Given the description of an element on the screen output the (x, y) to click on. 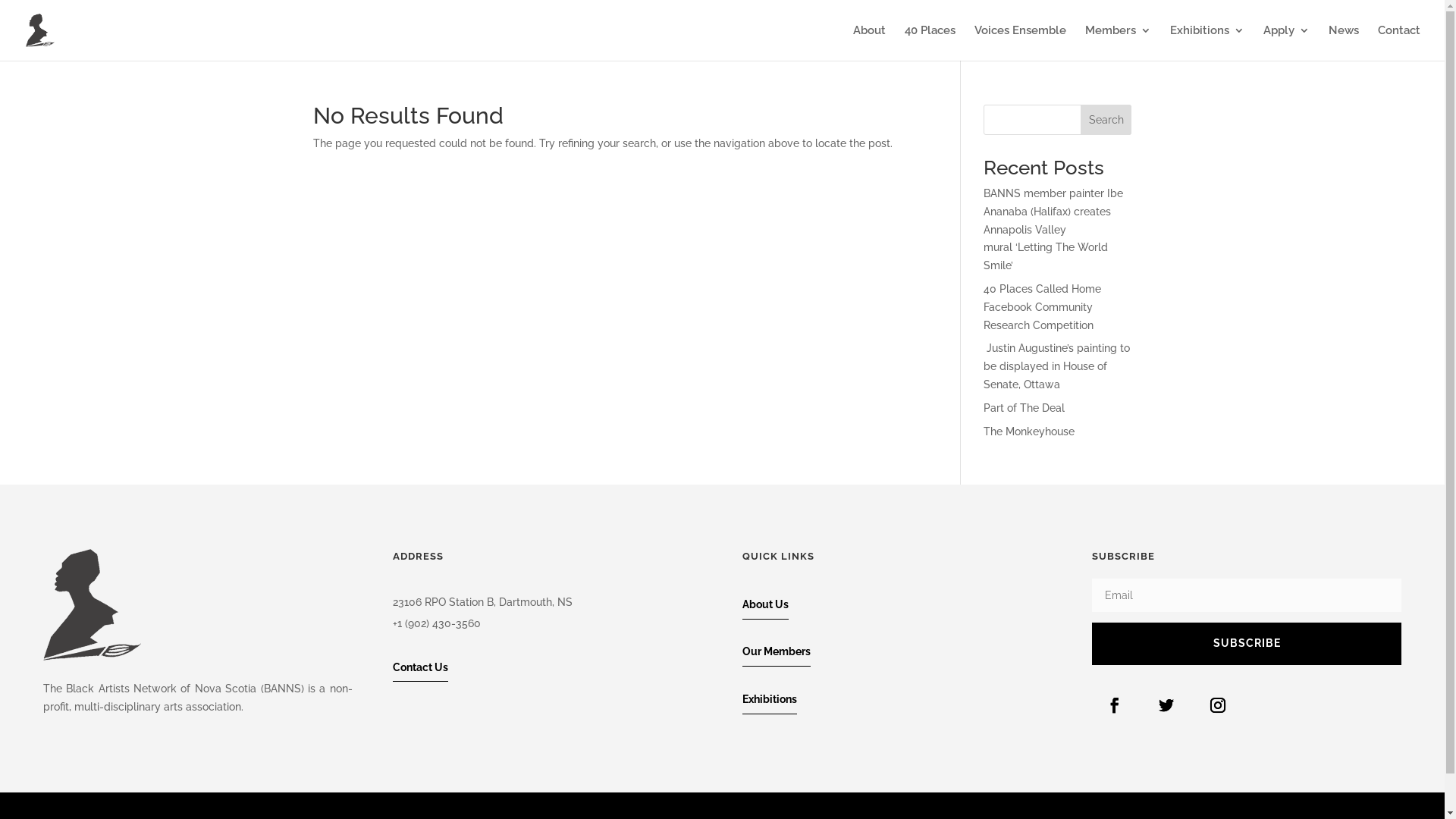
Members Element type: text (1118, 42)
Exhibitions Element type: text (769, 699)
News Element type: text (1343, 42)
Contact Element type: text (1398, 42)
Contact Us Element type: text (420, 667)
The Monkeyhouse Element type: text (1028, 431)
banns_logo Element type: hover (92, 604)
Apply Element type: text (1286, 42)
About Element type: text (869, 42)
Follow on Instagram Element type: hover (1217, 704)
Search Element type: text (1106, 119)
Exhibitions Element type: text (1207, 42)
40 Places Element type: text (929, 42)
About Us Element type: text (765, 604)
SUBSCRIBE Element type: text (1246, 643)
Voices Ensemble Element type: text (1020, 42)
Our Members Element type: text (776, 651)
Part of The Deal Element type: text (1023, 407)
Follow on Facebook Element type: hover (1114, 704)
Follow on Twitter Element type: hover (1166, 704)
